Given the description of an element on the screen output the (x, y) to click on. 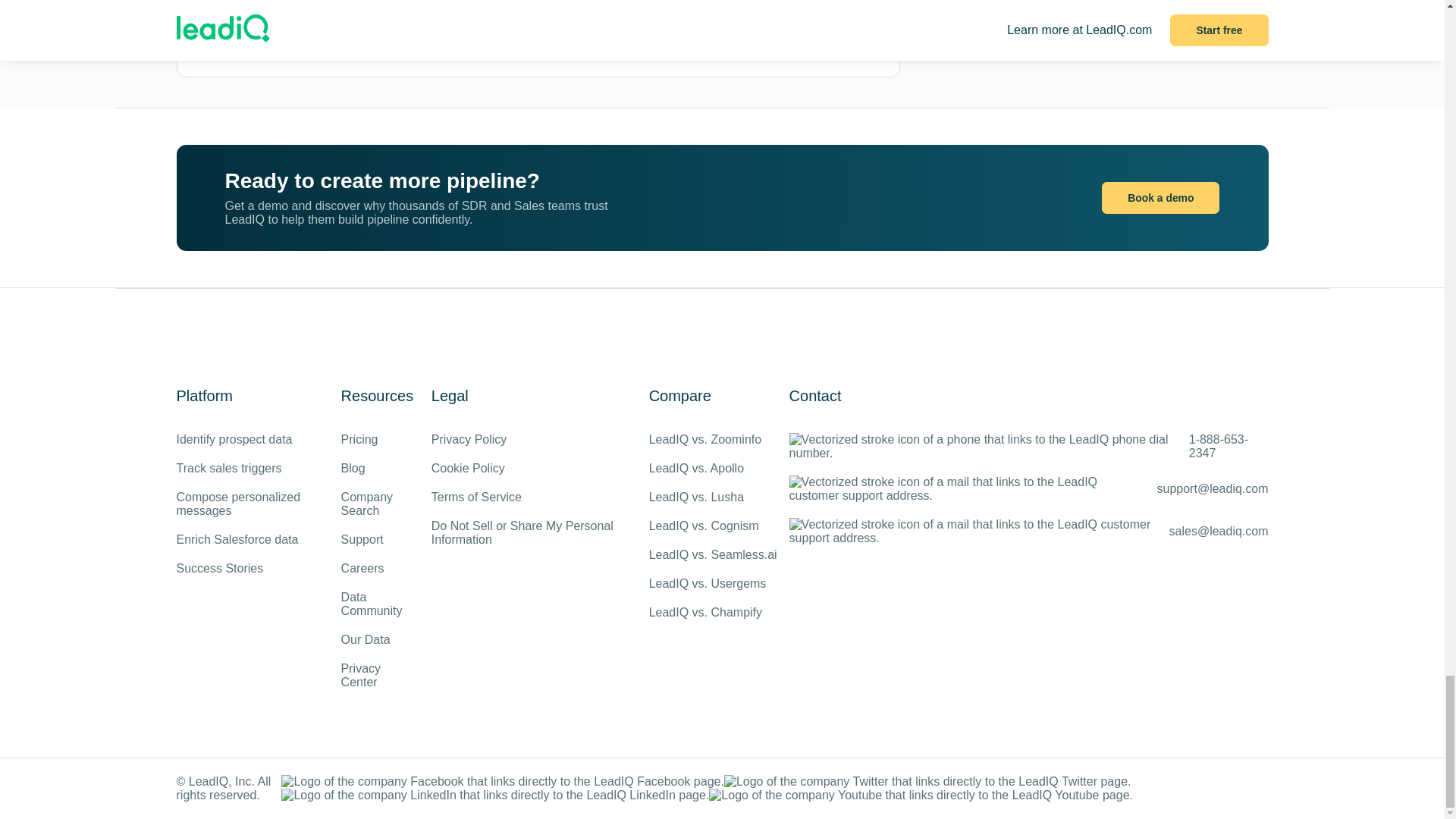
Find more Colgate-Palmolive email formats (601, 27)
